Given the description of an element on the screen output the (x, y) to click on. 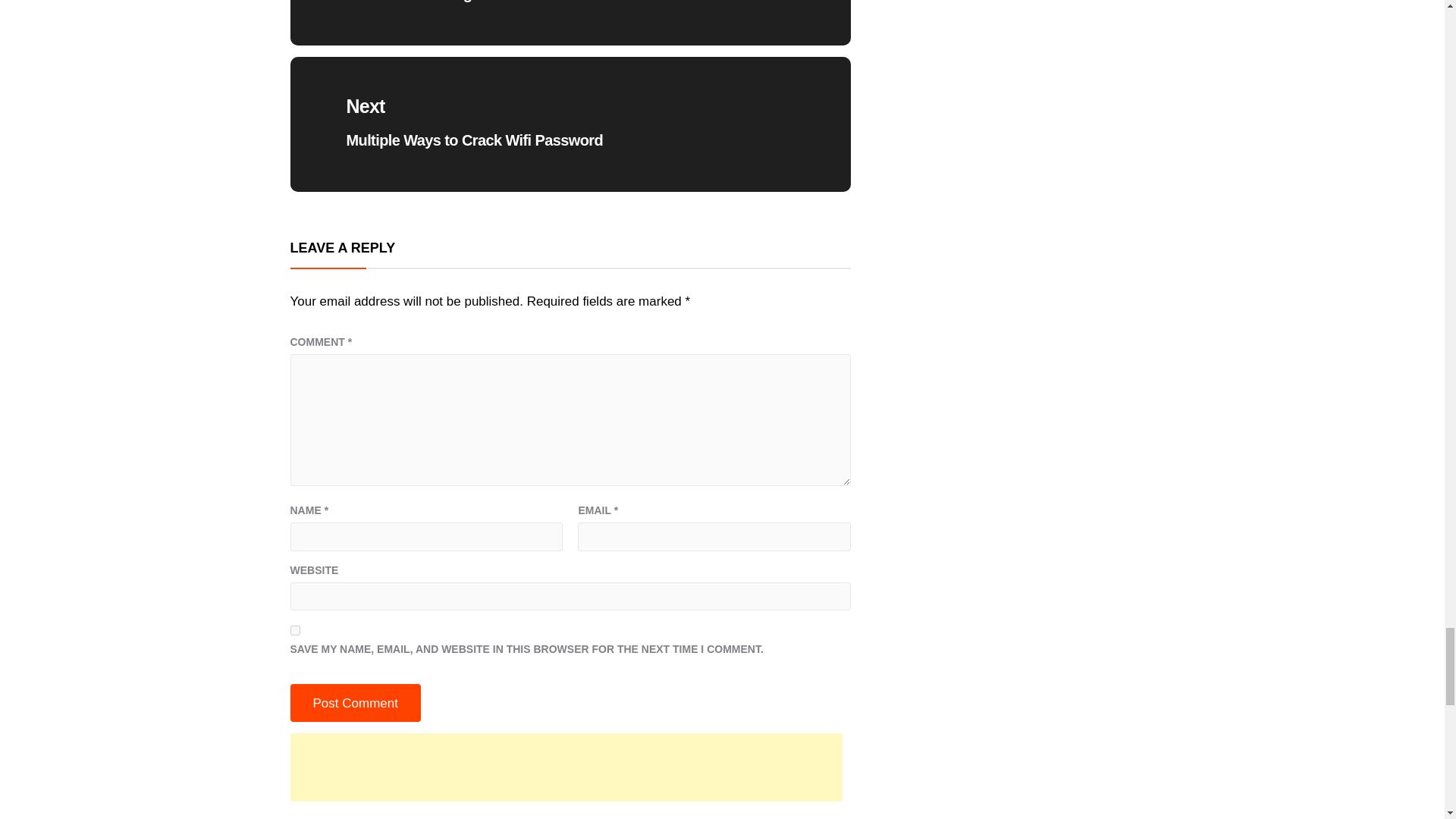
yes (294, 630)
Post Comment (354, 702)
